Given the description of an element on the screen output the (x, y) to click on. 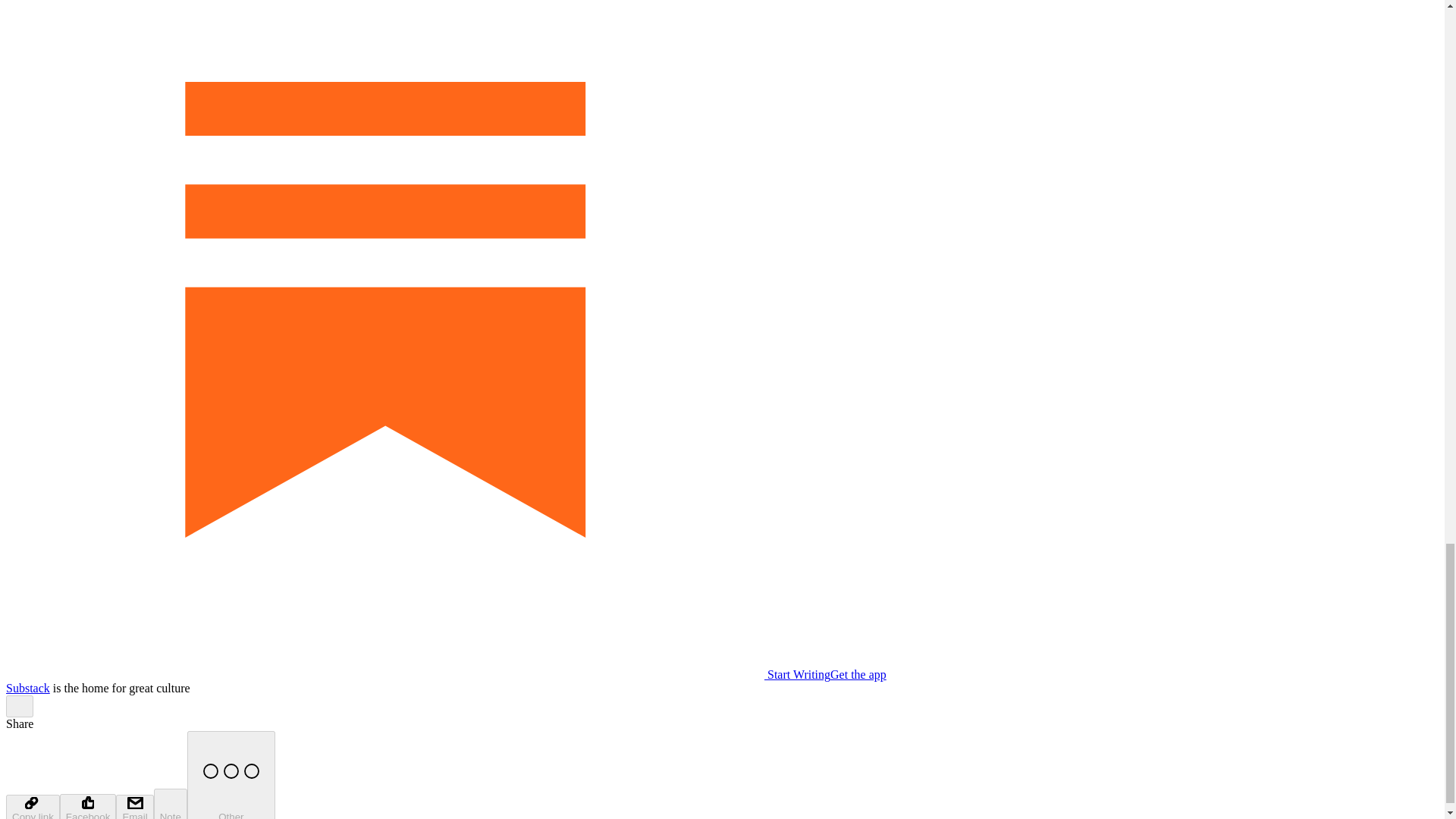
Substack (27, 687)
Start Writing (417, 674)
Get the app (857, 674)
